Given the description of an element on the screen output the (x, y) to click on. 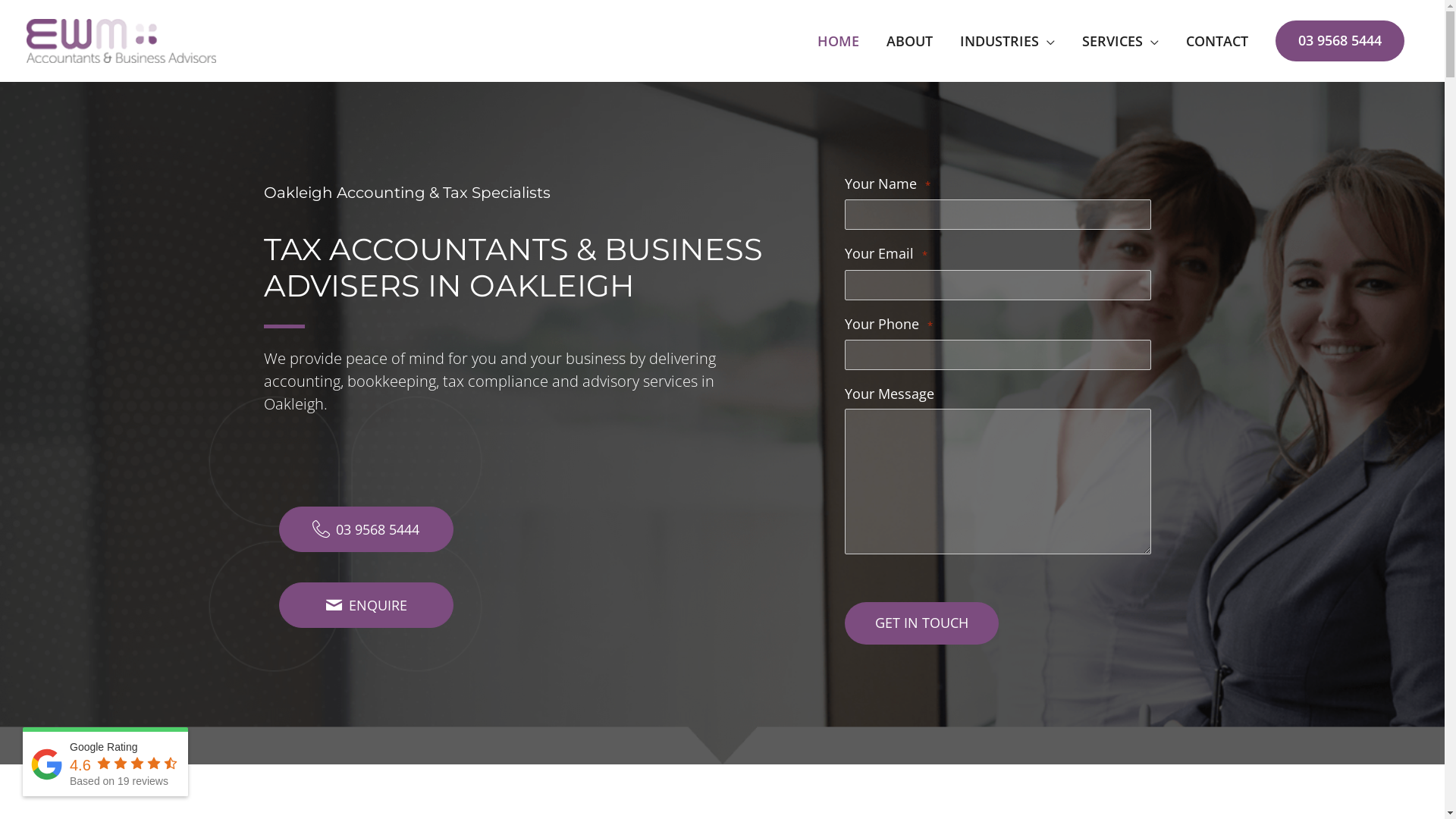
HOME Element type: text (837, 40)
INDUSTRIES Element type: text (1007, 40)
03 9568 5444 Element type: text (1339, 40)
CONTACT Element type: text (1216, 40)
GET IN TOUCH Element type: text (921, 623)
ENQUIRE Element type: text (366, 604)
SERVICES Element type: text (1120, 40)
03 9568 5444 Element type: text (366, 529)
ABOUT Element type: text (909, 40)
